Given the description of an element on the screen output the (x, y) to click on. 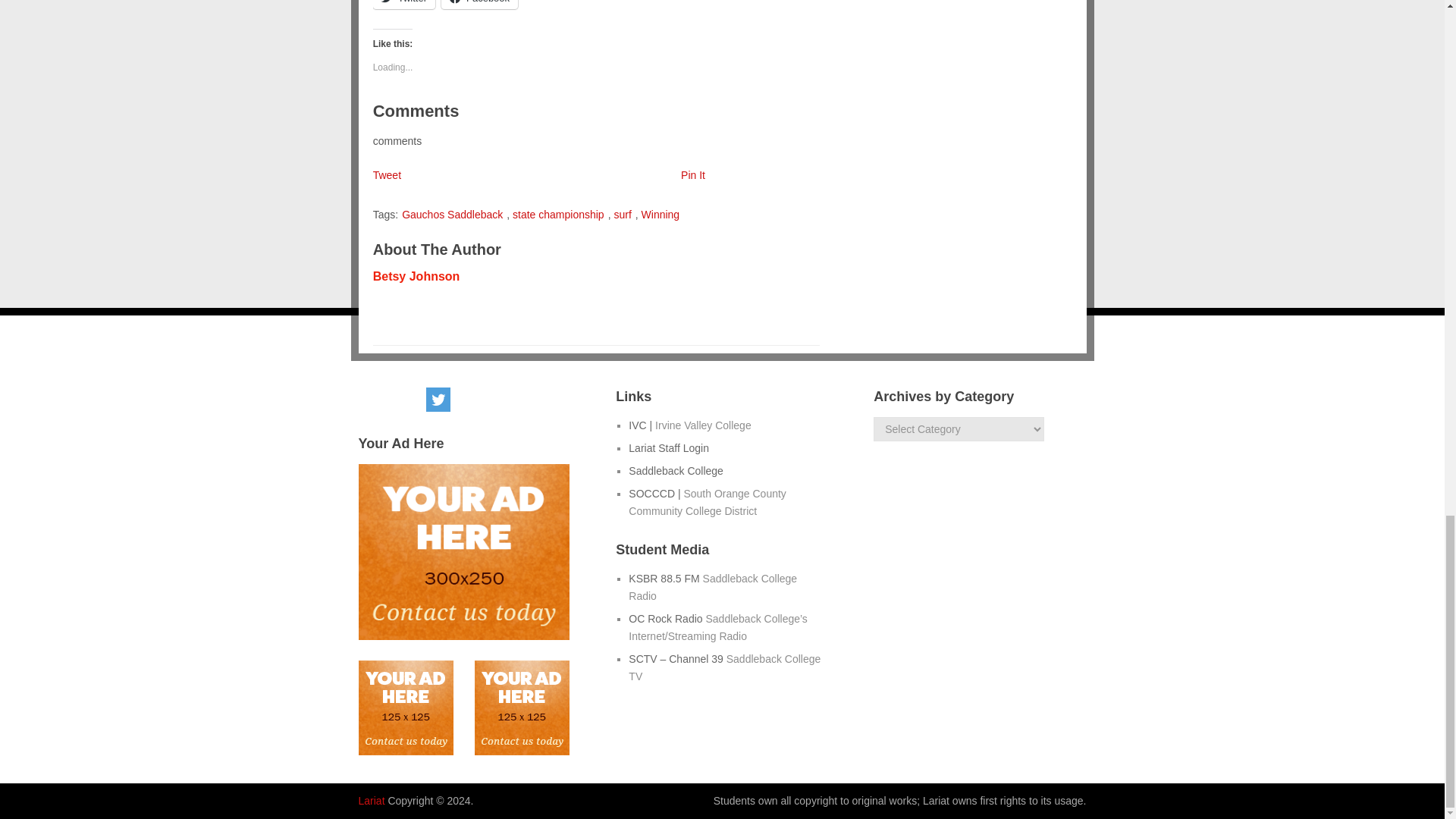
YouTube (469, 399)
state championship (558, 214)
Betsy Johnson (416, 276)
Twitter (437, 399)
Gauchos Saddleback (451, 214)
Pin It (692, 174)
Click to share on Facebook (479, 4)
surf (621, 214)
Facebook (479, 4)
Email (374, 399)
